Given the description of an element on the screen output the (x, y) to click on. 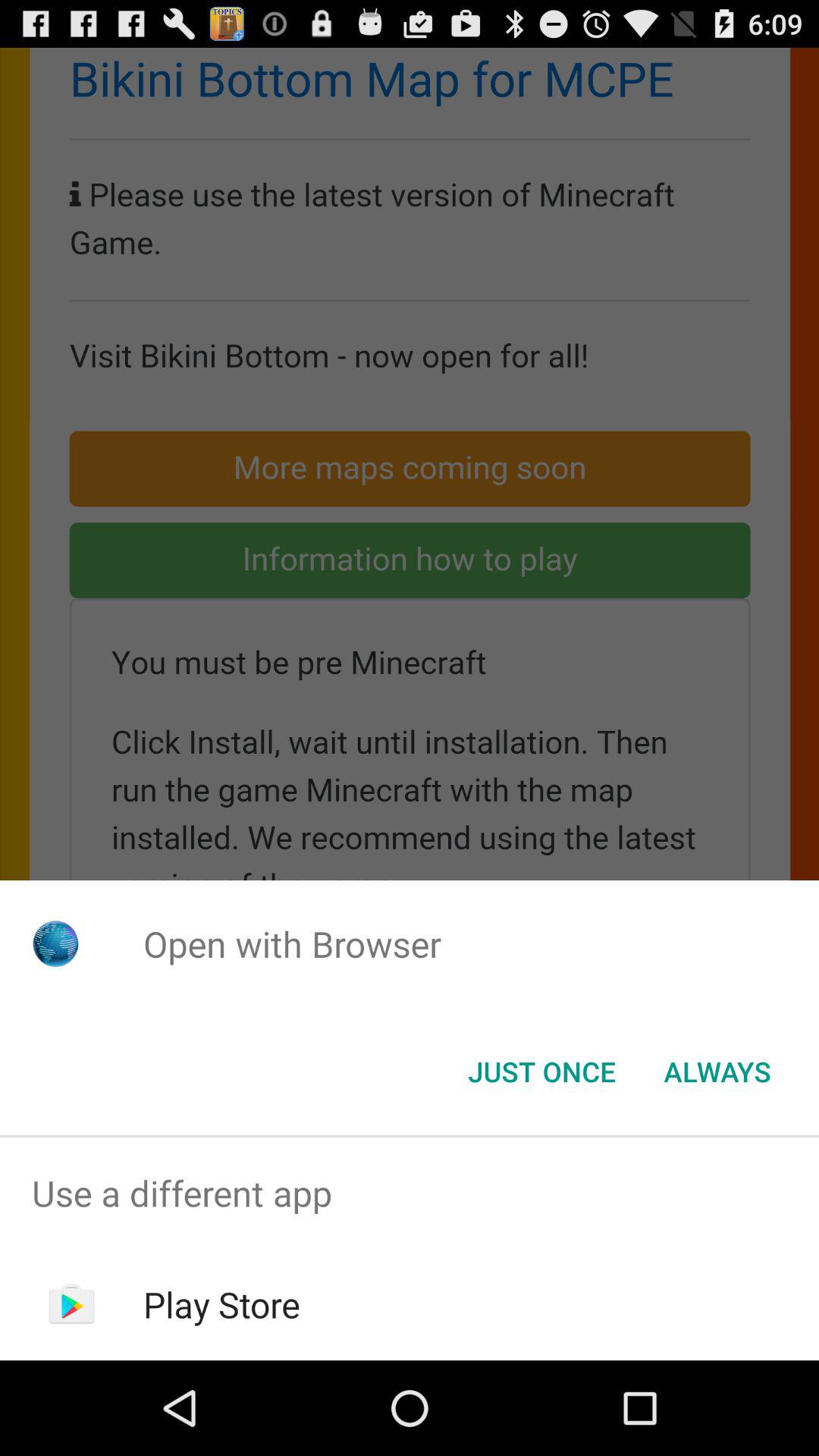
launch the app below the use a different (221, 1304)
